Given the description of an element on the screen output the (x, y) to click on. 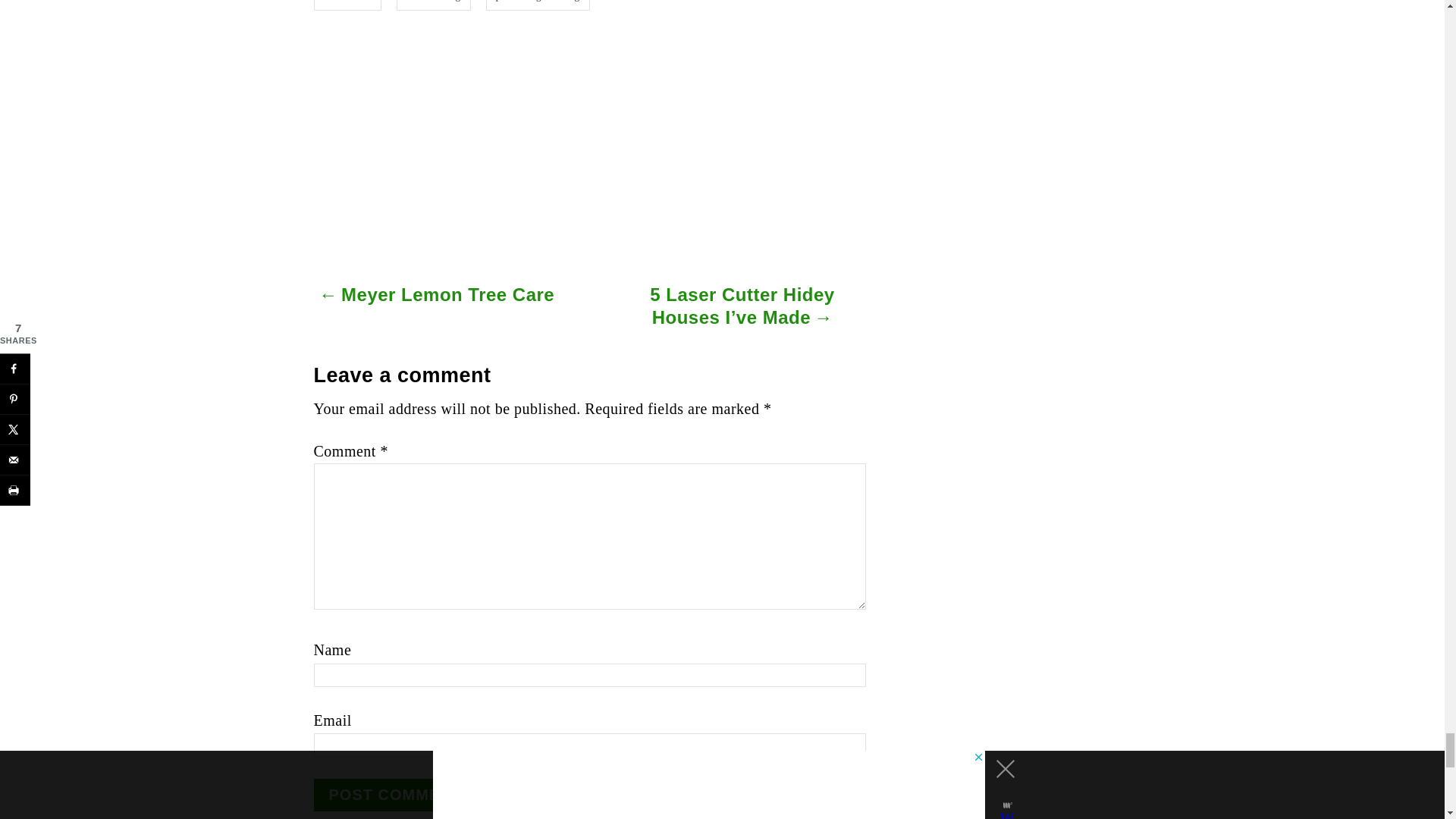
Post Comment (395, 794)
